Given the description of an element on the screen output the (x, y) to click on. 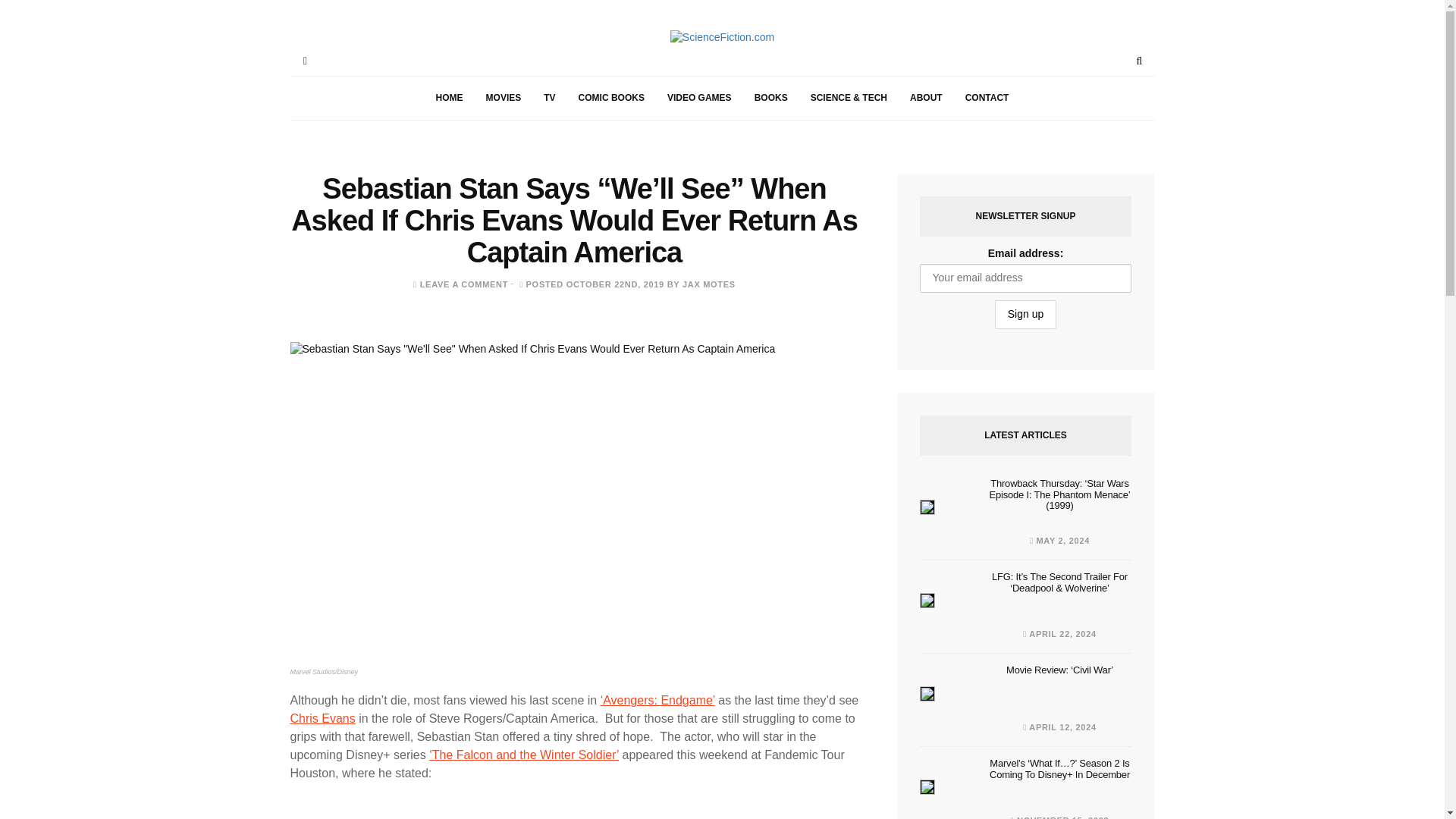
Posts by Jax Motes (708, 284)
JAX MOTES (708, 284)
CONTACT (986, 97)
VIDEO GAMES (699, 97)
ABOUT (925, 97)
LEAVE A COMMENT (464, 284)
BOOKS (770, 97)
MOVIES (503, 97)
HOME (449, 97)
COMIC BOOKS (611, 97)
